Given the description of an element on the screen output the (x, y) to click on. 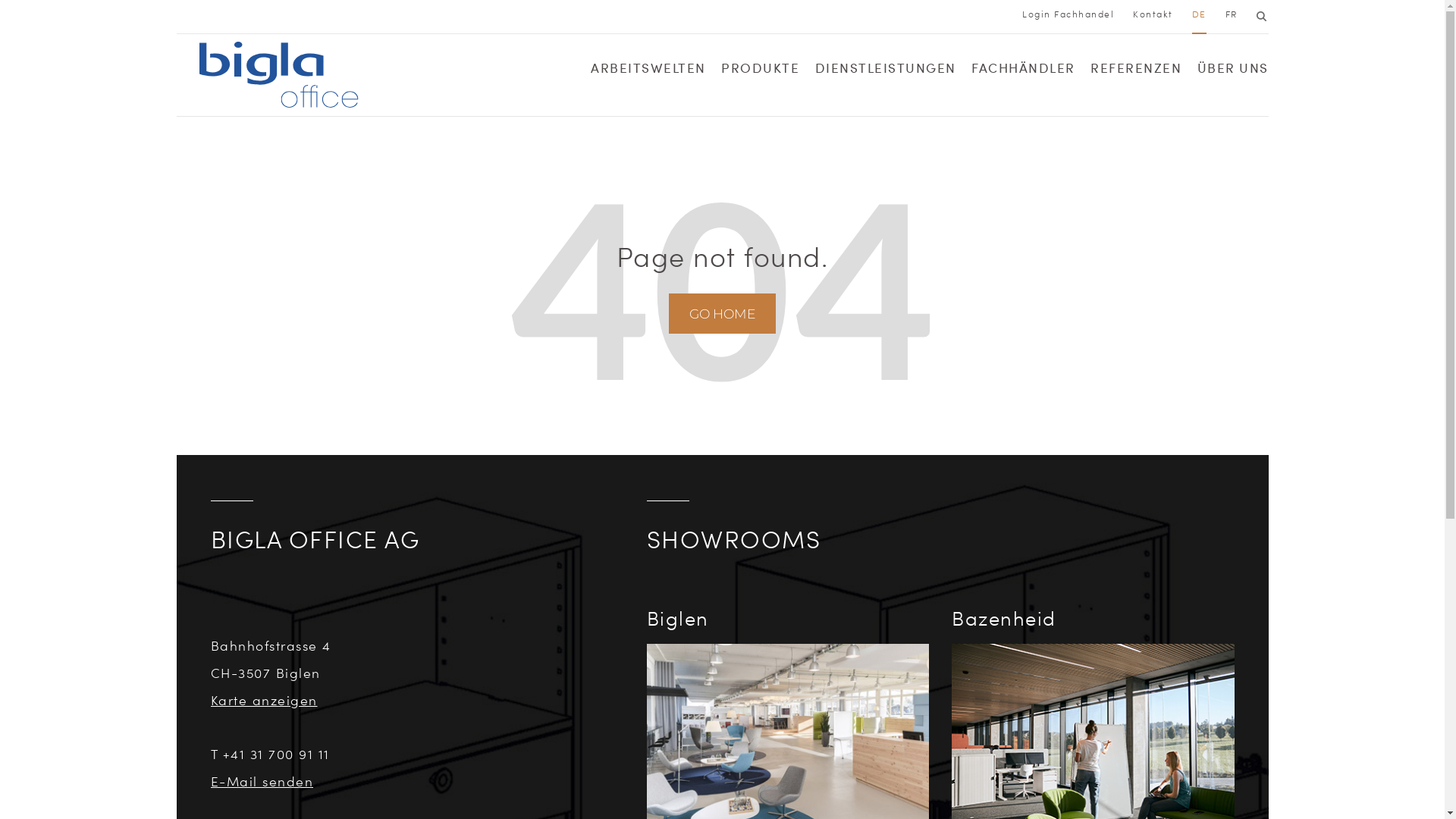
E-Mail senden Element type: text (261, 780)
PRODUKTE Element type: text (760, 71)
Karte anzeigen Element type: text (263, 699)
FR Element type: text (1231, 14)
Kontakt Element type: text (1152, 14)
Login Fachhandel Element type: text (1067, 14)
DIENSTLEISTUNGEN Element type: text (884, 71)
DE Element type: text (1199, 14)
+41 31 700 91 11 Element type: text (275, 753)
REFERENZEN Element type: text (1135, 71)
GO HOME Element type: text (721, 313)
ARBEITSWELTEN Element type: text (648, 71)
Bigla Office Element type: hover (277, 74)
